Given the description of an element on the screen output the (x, y) to click on. 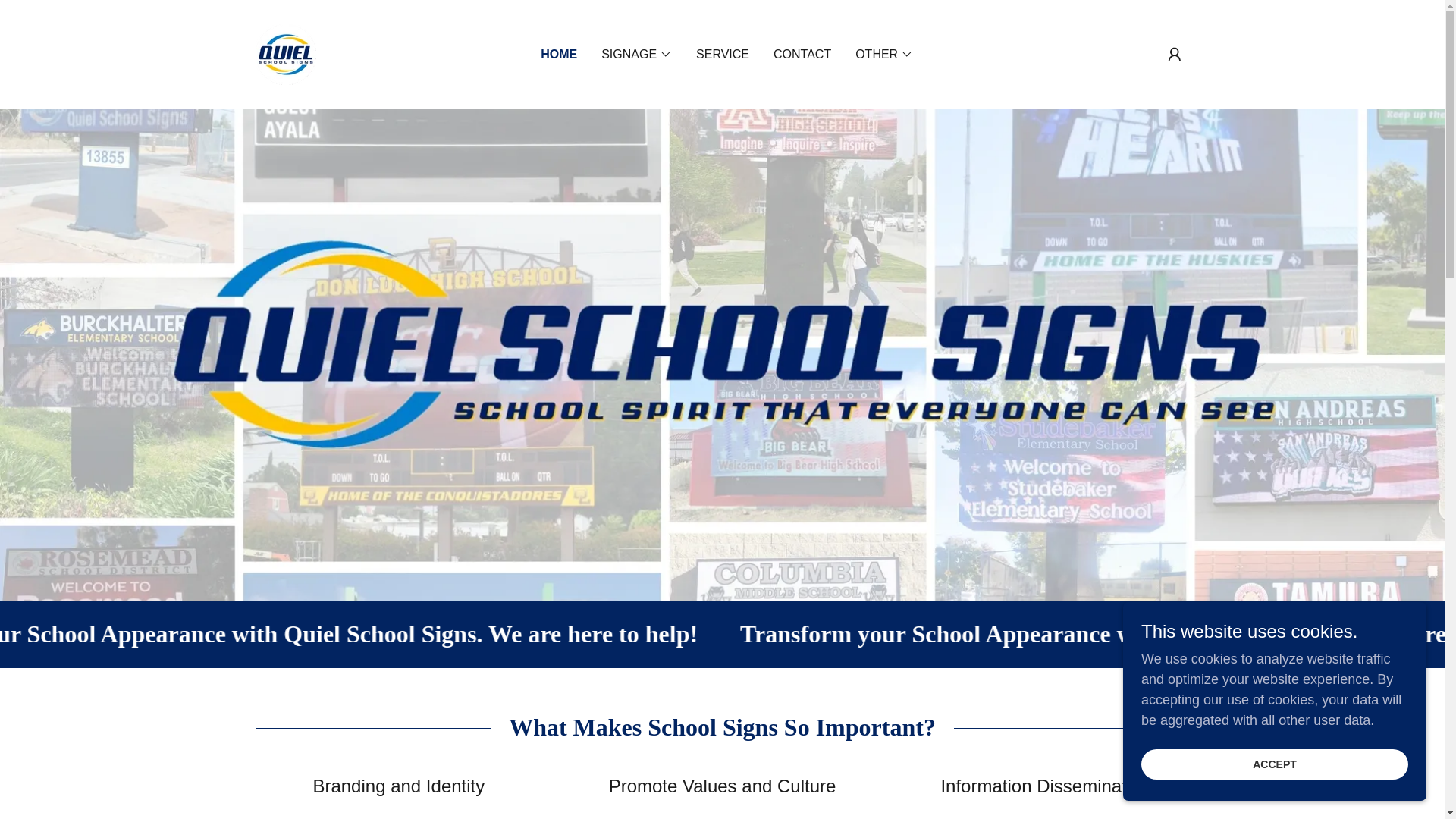
SERVICE (722, 53)
Quiel School Signs (284, 53)
OTHER (884, 54)
SIGNAGE (636, 54)
CONTACT (801, 53)
HOME (558, 54)
